Given the description of an element on the screen output the (x, y) to click on. 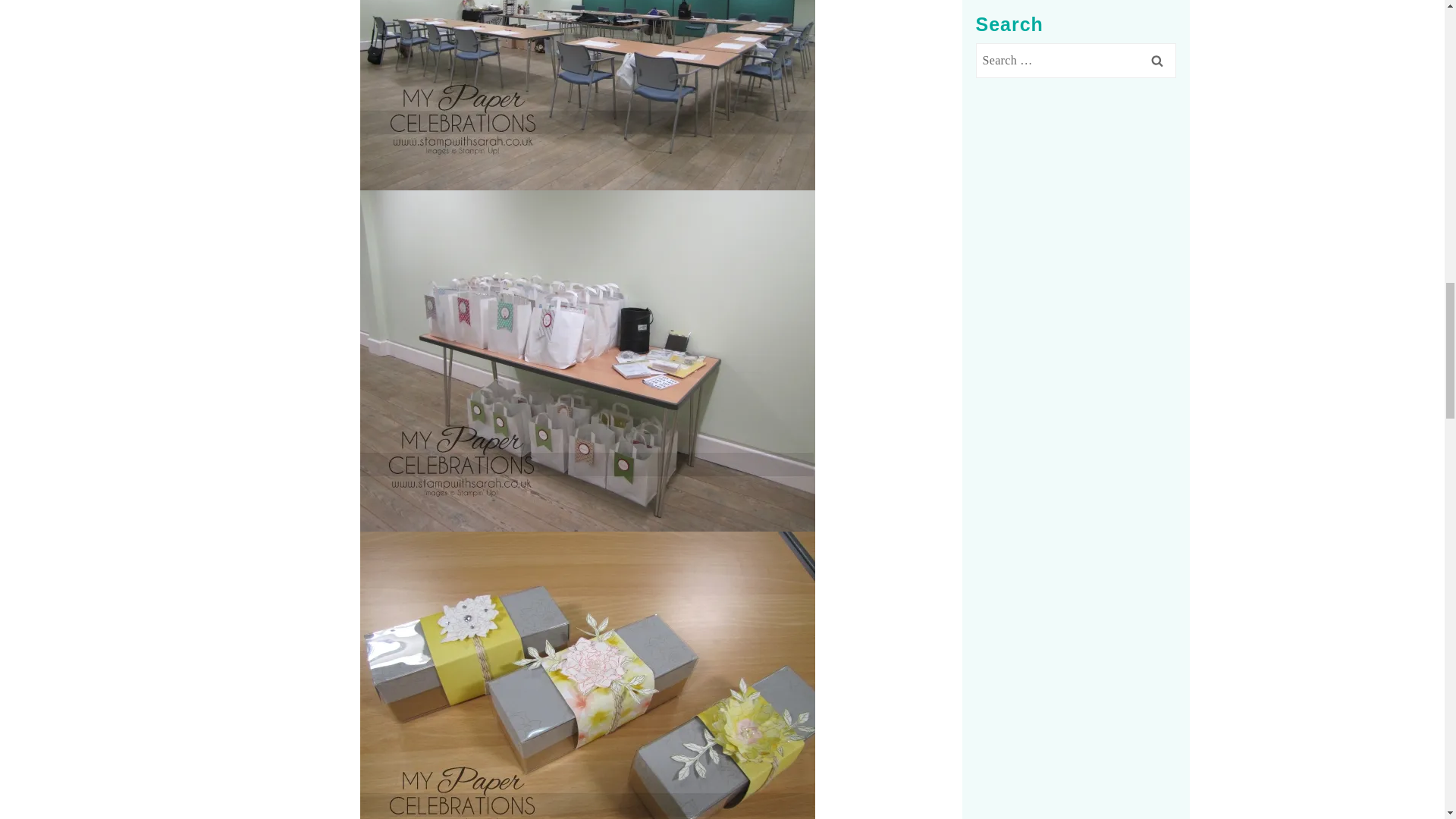
Search (1155, 17)
Search (1155, 17)
